Given the description of an element on the screen output the (x, y) to click on. 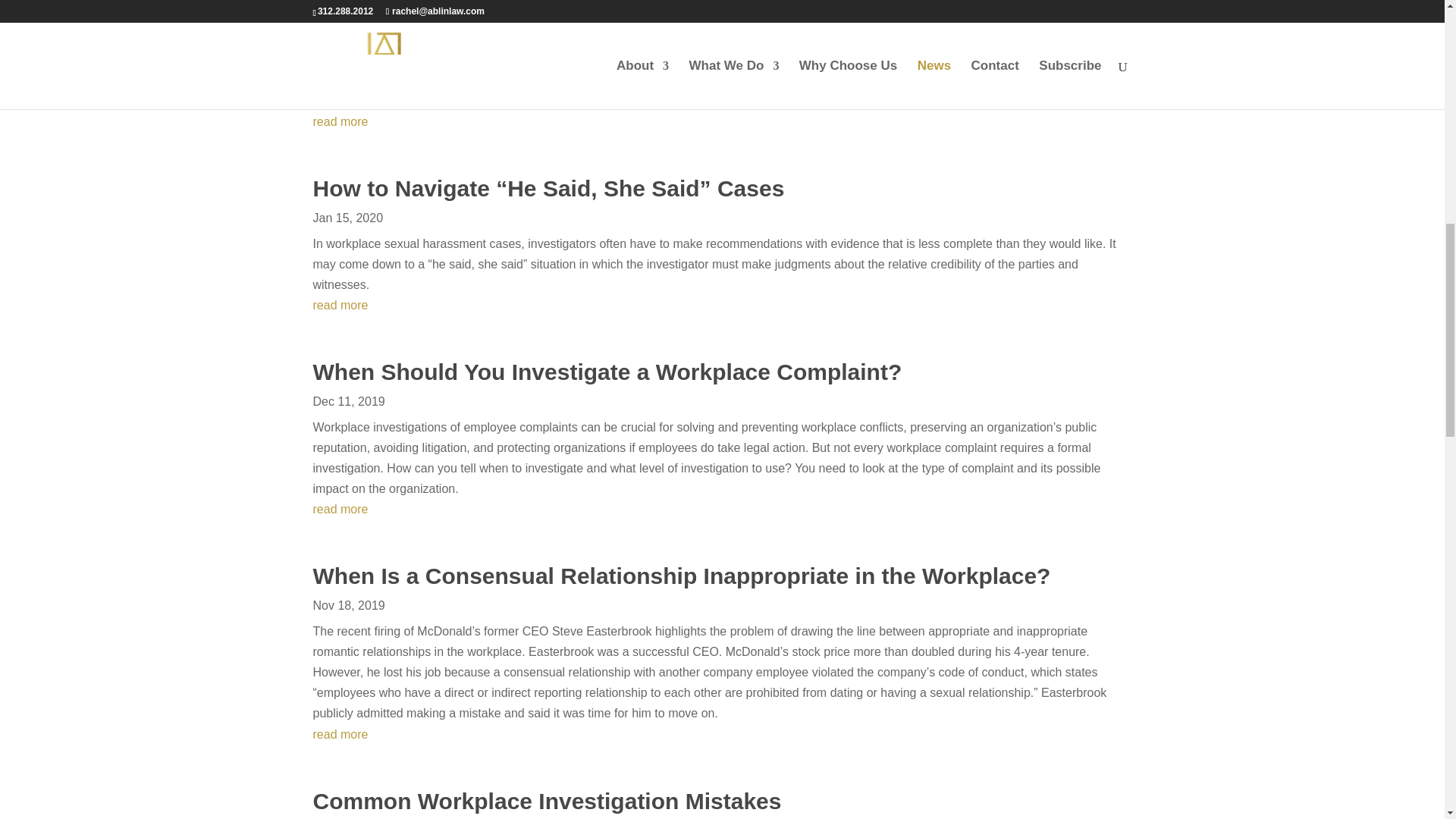
read more (722, 508)
Common Workplace Investigation Mistakes (546, 801)
When Should You Investigate a Workplace Complaint? (607, 371)
read more (722, 304)
read more (722, 733)
read more (722, 121)
